Given the description of an element on the screen output the (x, y) to click on. 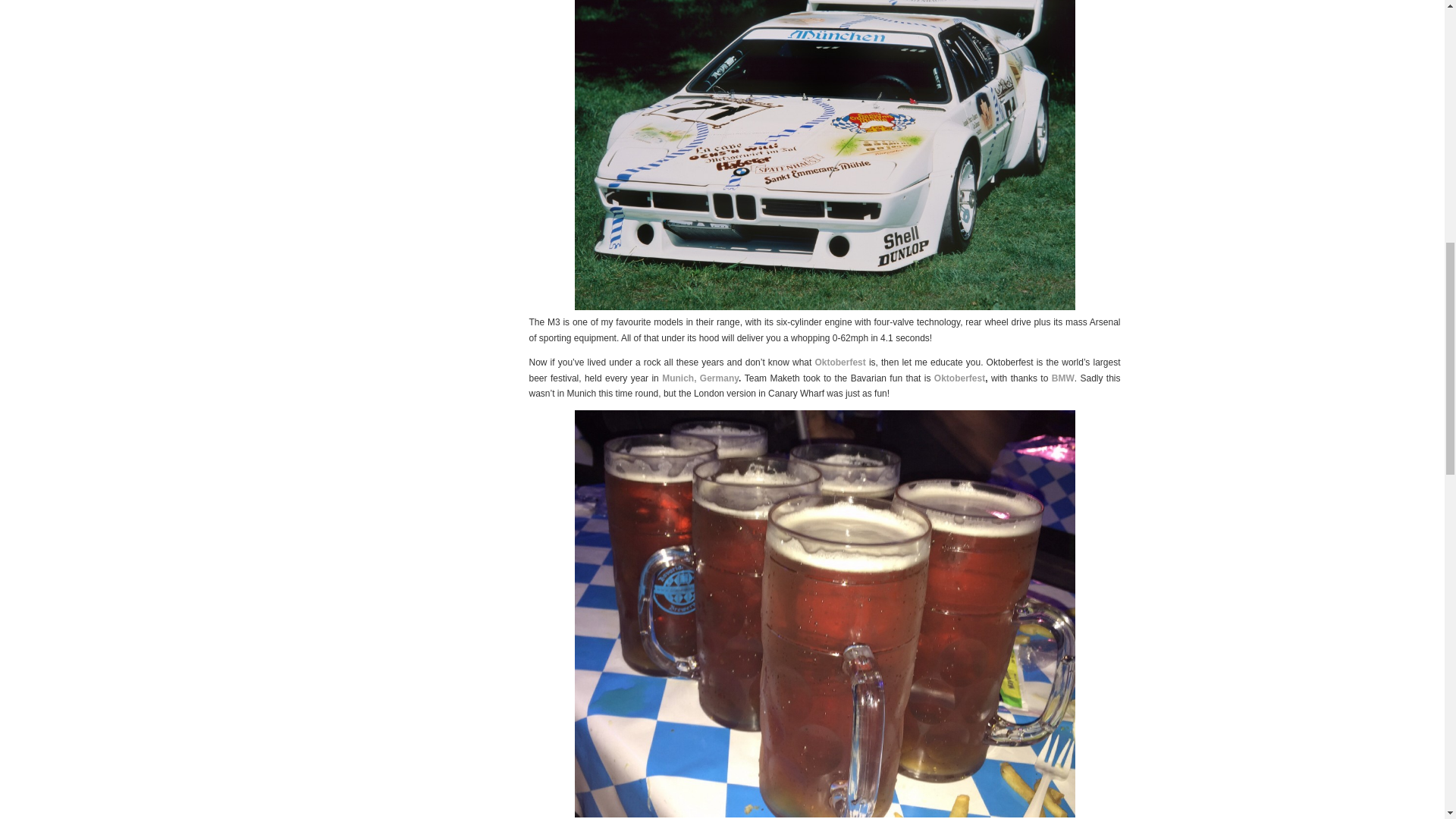
Munich, Germany (700, 378)
BMW (1062, 378)
Oktoberfest (959, 378)
Oktoberfest (840, 362)
